Given the description of an element on the screen output the (x, y) to click on. 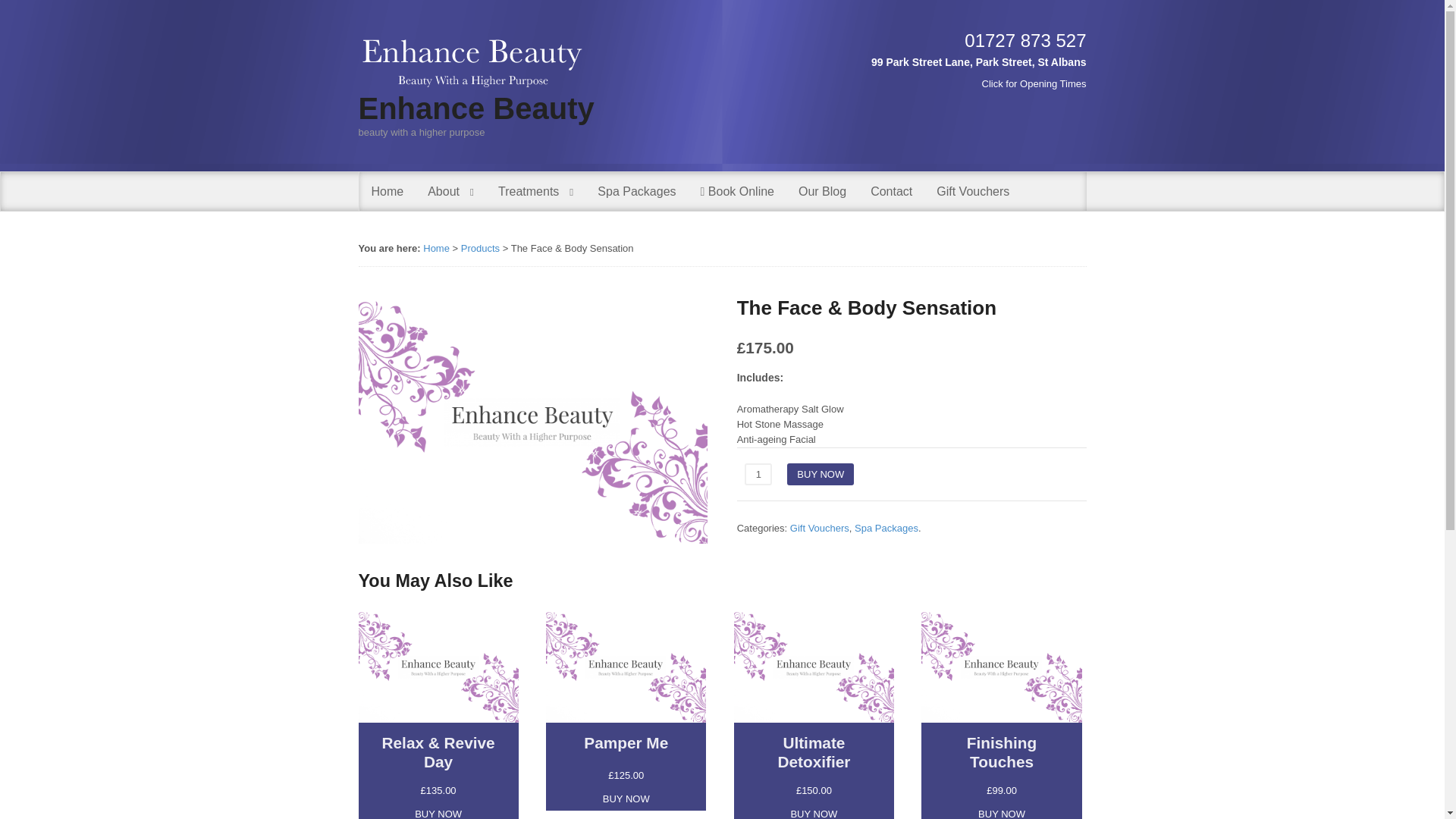
Enhance Beauty (476, 108)
Gift Vouchers (973, 190)
BUY NOW (820, 473)
Book Online (737, 190)
Home (436, 247)
Our Blog (822, 190)
BUY NOW (438, 811)
Contact (891, 190)
About (450, 190)
Spa Packages (886, 527)
